Given the description of an element on the screen output the (x, y) to click on. 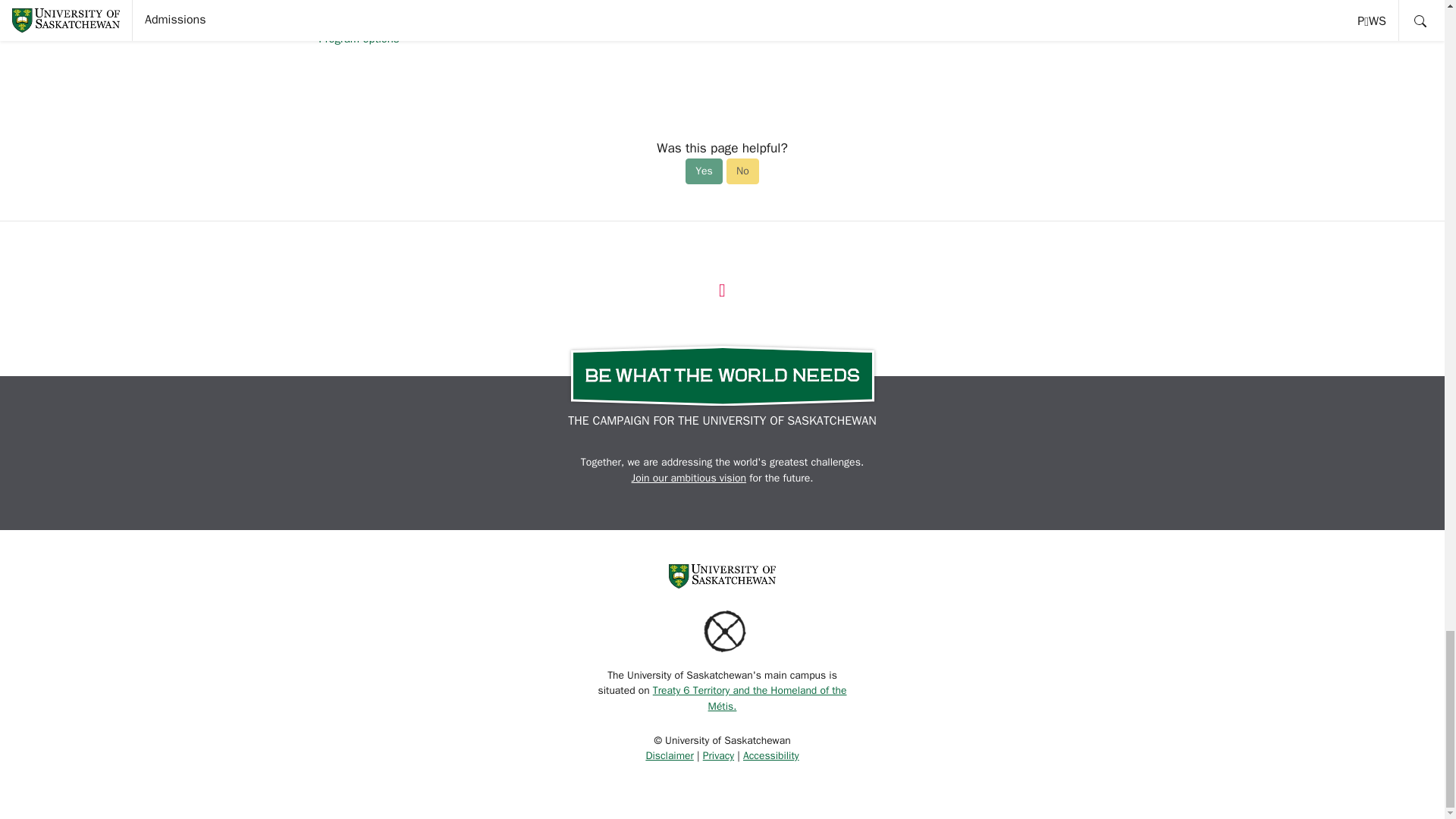
Follow on Instagram (722, 289)
